Given the description of an element on the screen output the (x, y) to click on. 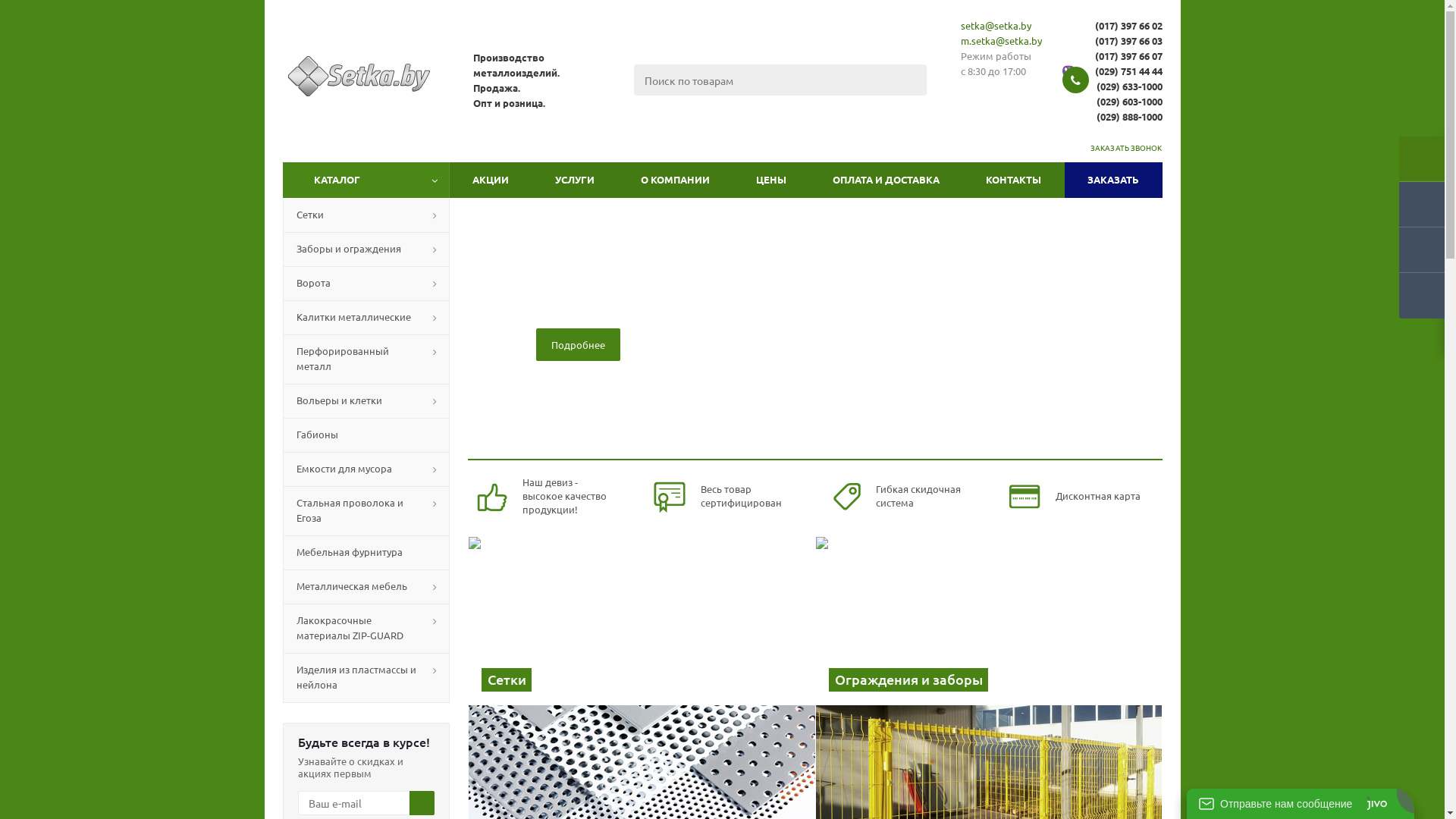
setka@setka.by Element type: text (995, 24)
6 Element type: text (822, 441)
8 Element type: text (849, 441)
10 Element type: text (877, 441)
2 Element type: text (767, 441)
m.setka@setka.by Element type: text (1000, 40)
5 Element type: text (808, 441)
9 Element type: text (863, 441)
4 Element type: text (795, 441)
1 Element type: text (754, 441)
3 Element type: text (781, 441)
7 Element type: text (836, 441)
